Given the description of an element on the screen output the (x, y) to click on. 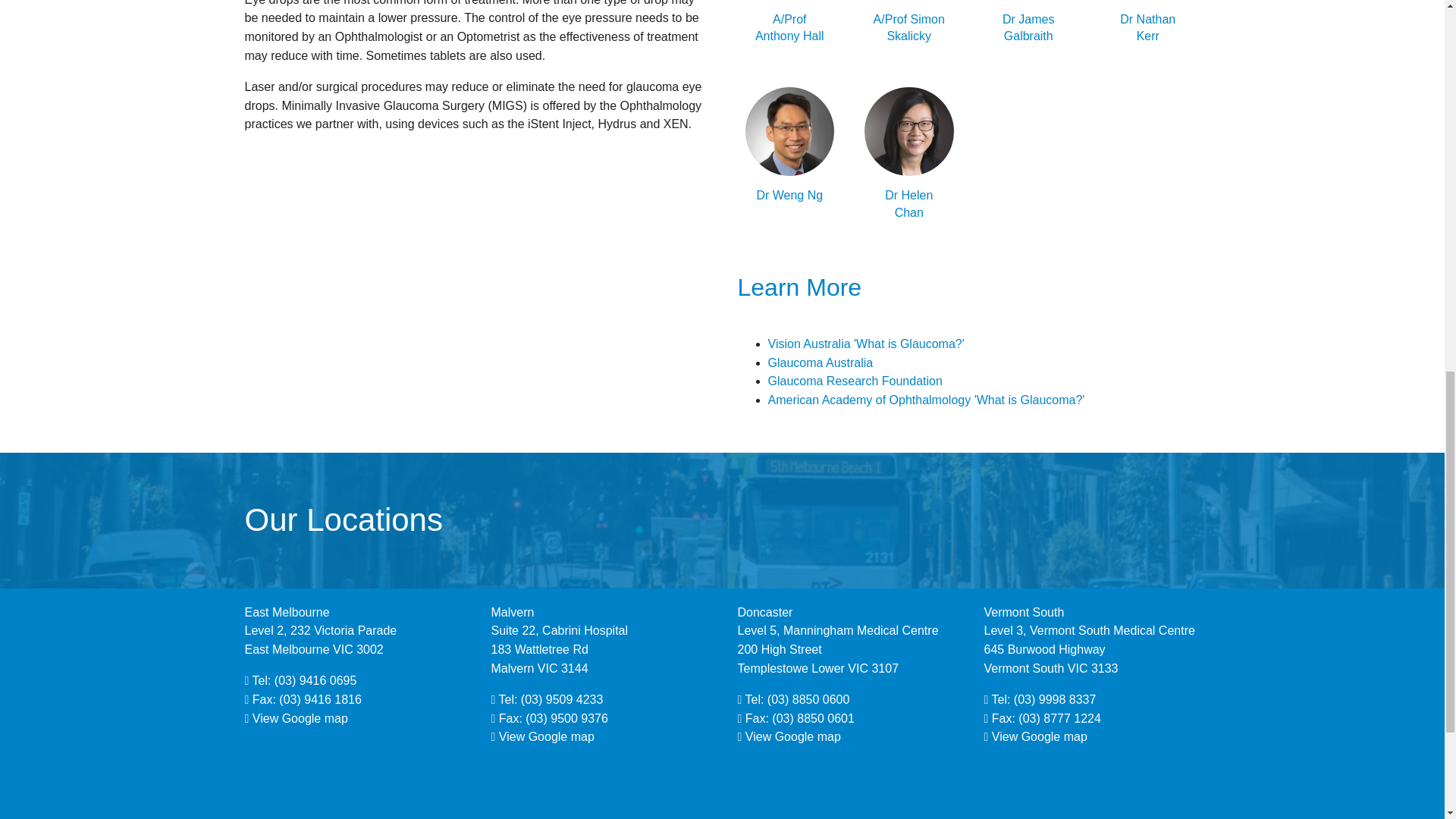
Dr Nathan Kerr (1147, 31)
Dr James Galbraith (1028, 31)
